Given the description of an element on the screen output the (x, y) to click on. 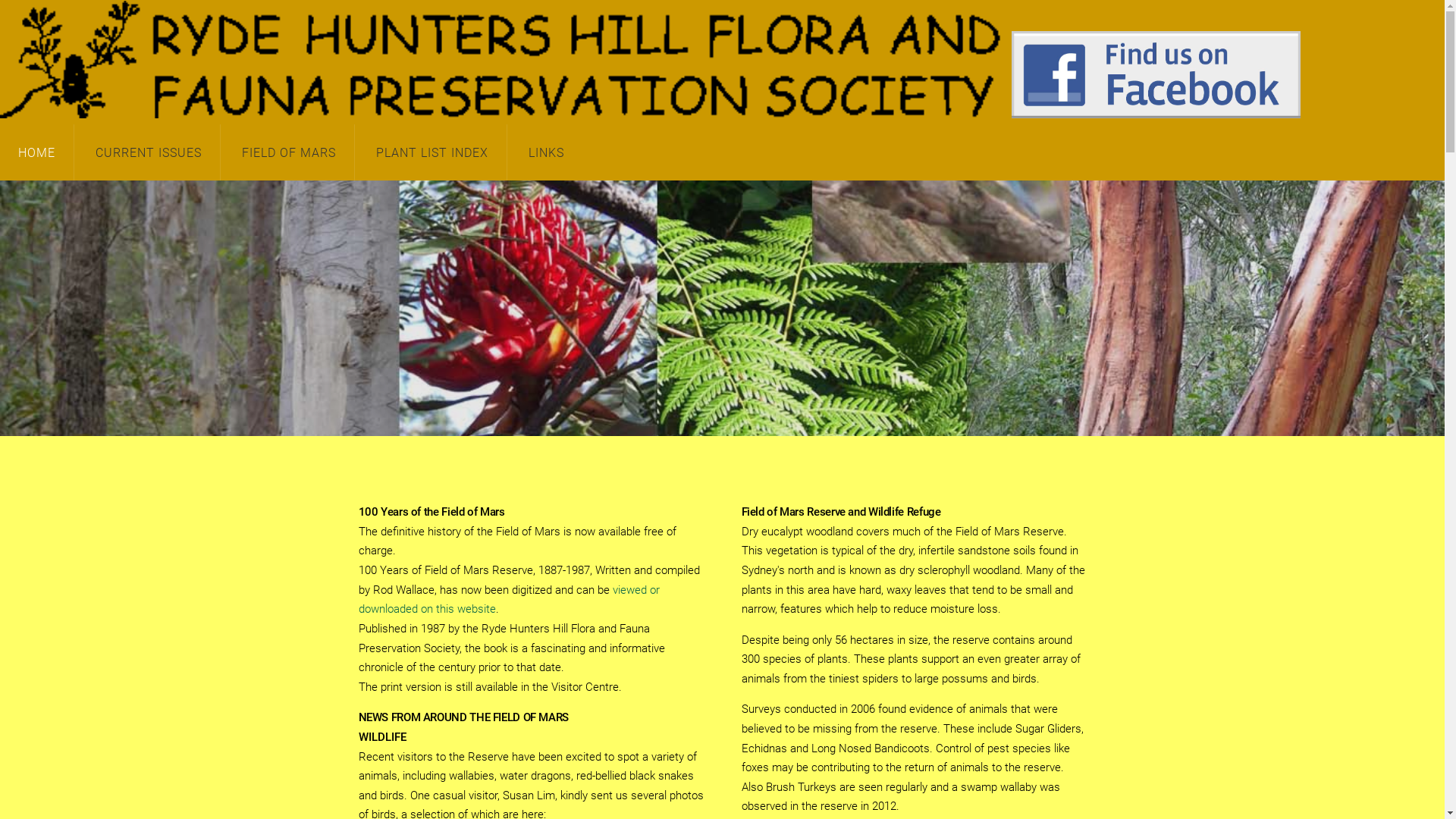
HOME Element type: text (36, 152)
CURRENT ISSUES Element type: text (148, 152)
viewed or downloaded on this website Element type: text (507, 599)
LINKS Element type: text (546, 152)
FIELD OF MARS Element type: text (288, 152)
PLANT LIST INDEX Element type: text (431, 152)
